Given the description of an element on the screen output the (x, y) to click on. 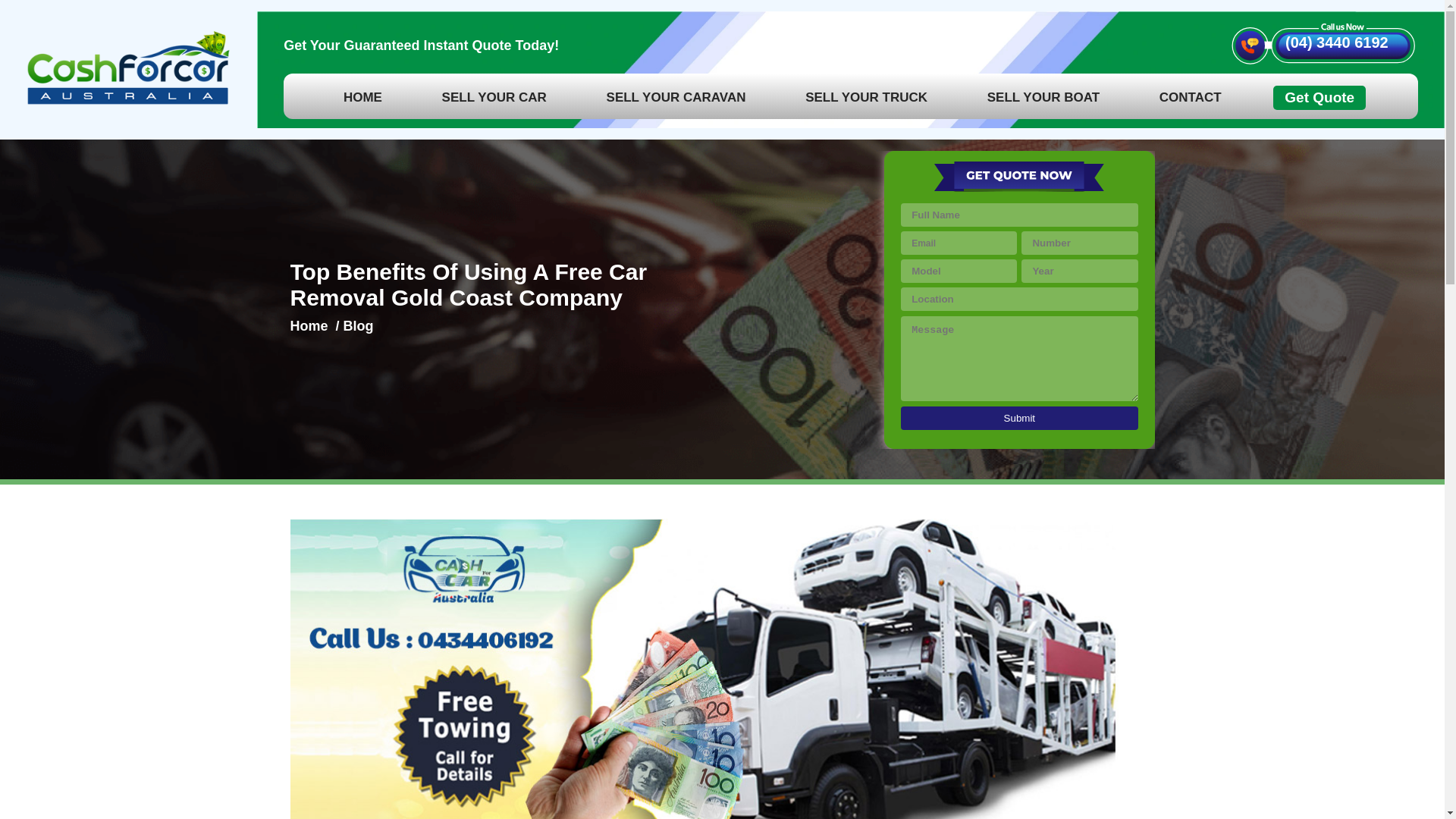
Submit (1019, 417)
Please type a number (1079, 242)
Please type a valid year e.g. 2020 (1079, 270)
